Given the description of an element on the screen output the (x, y) to click on. 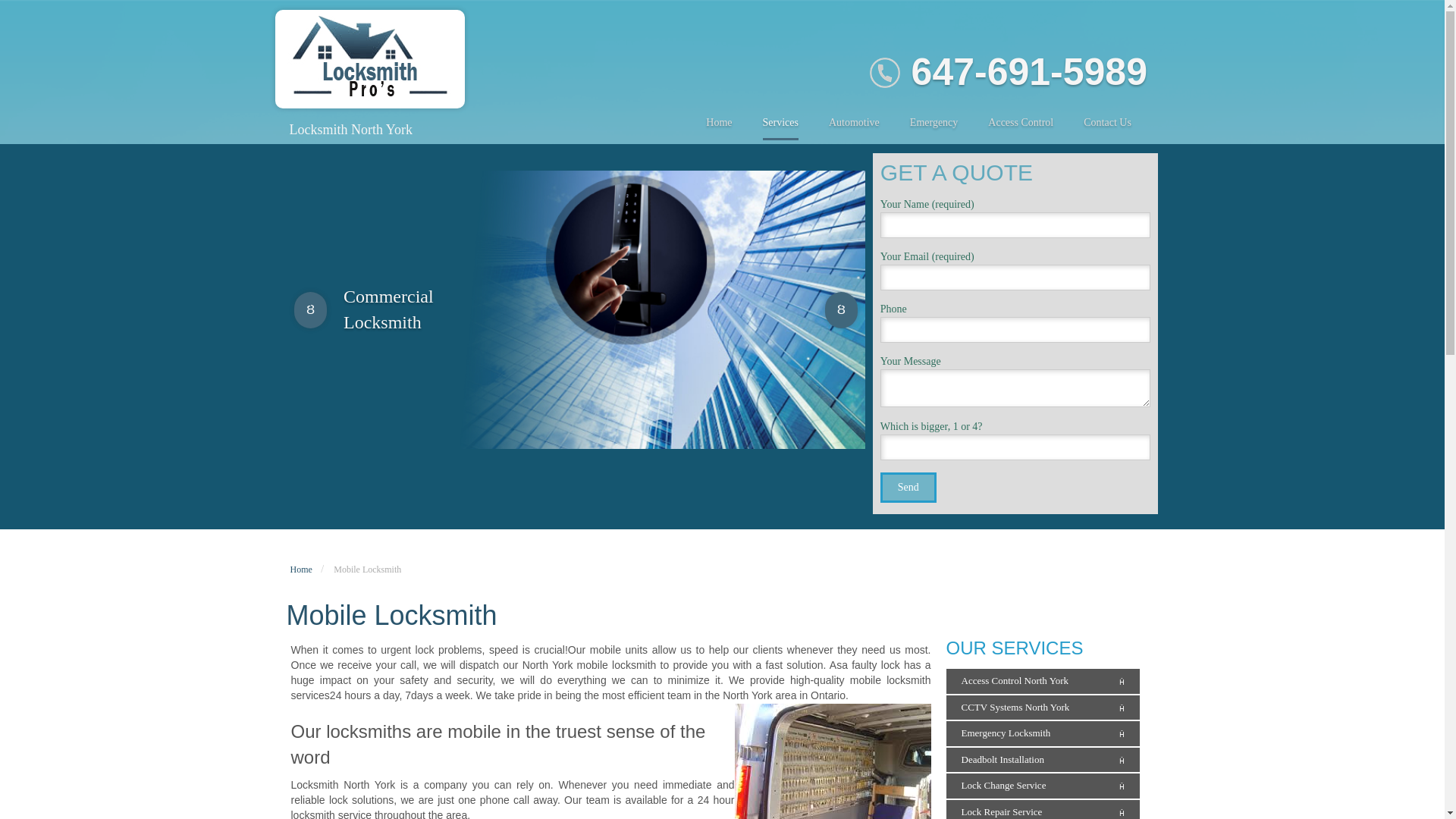
Send (908, 487)
